Given the description of an element on the screen output the (x, y) to click on. 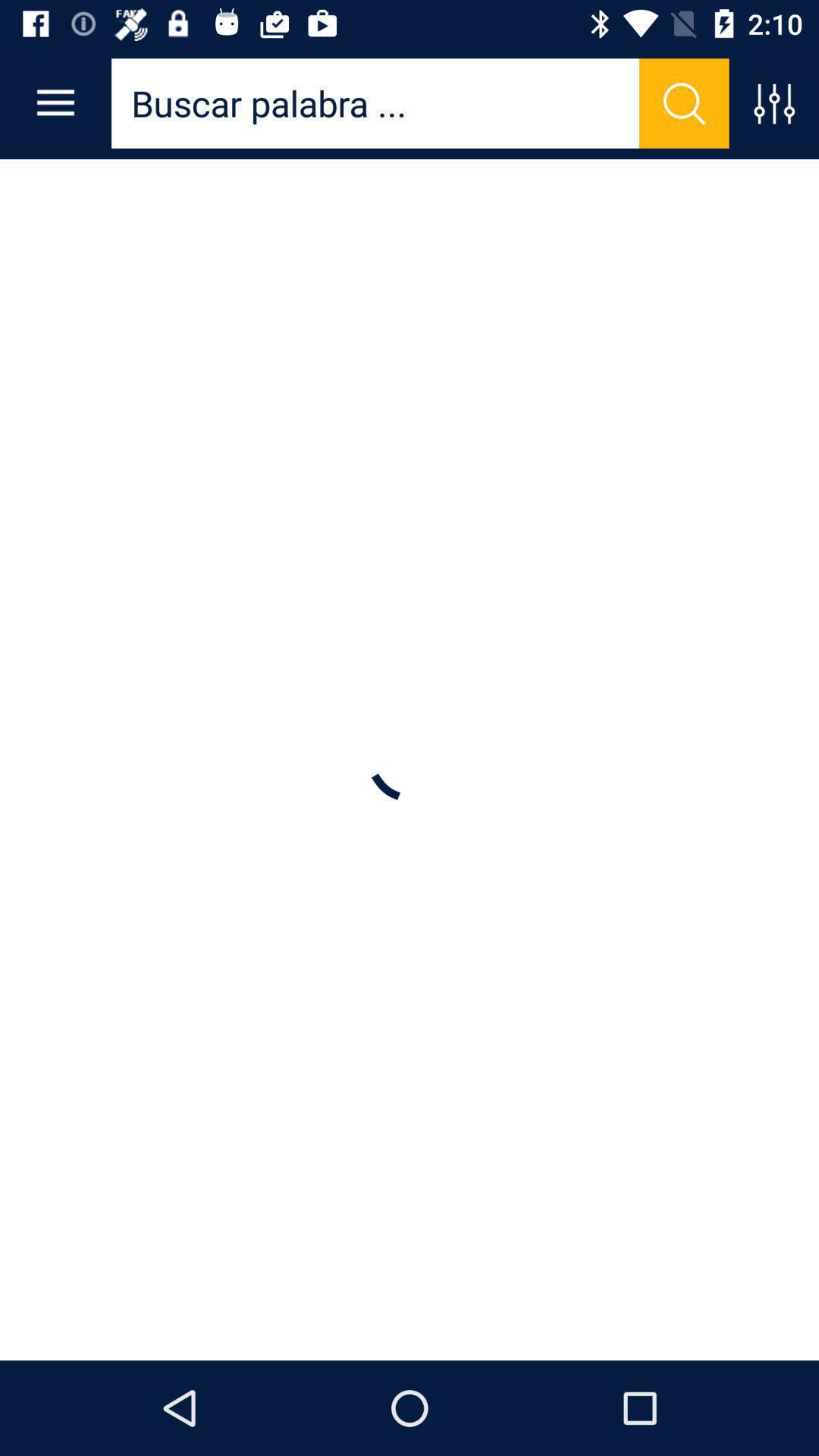
press to search (684, 103)
